Given the description of an element on the screen output the (x, y) to click on. 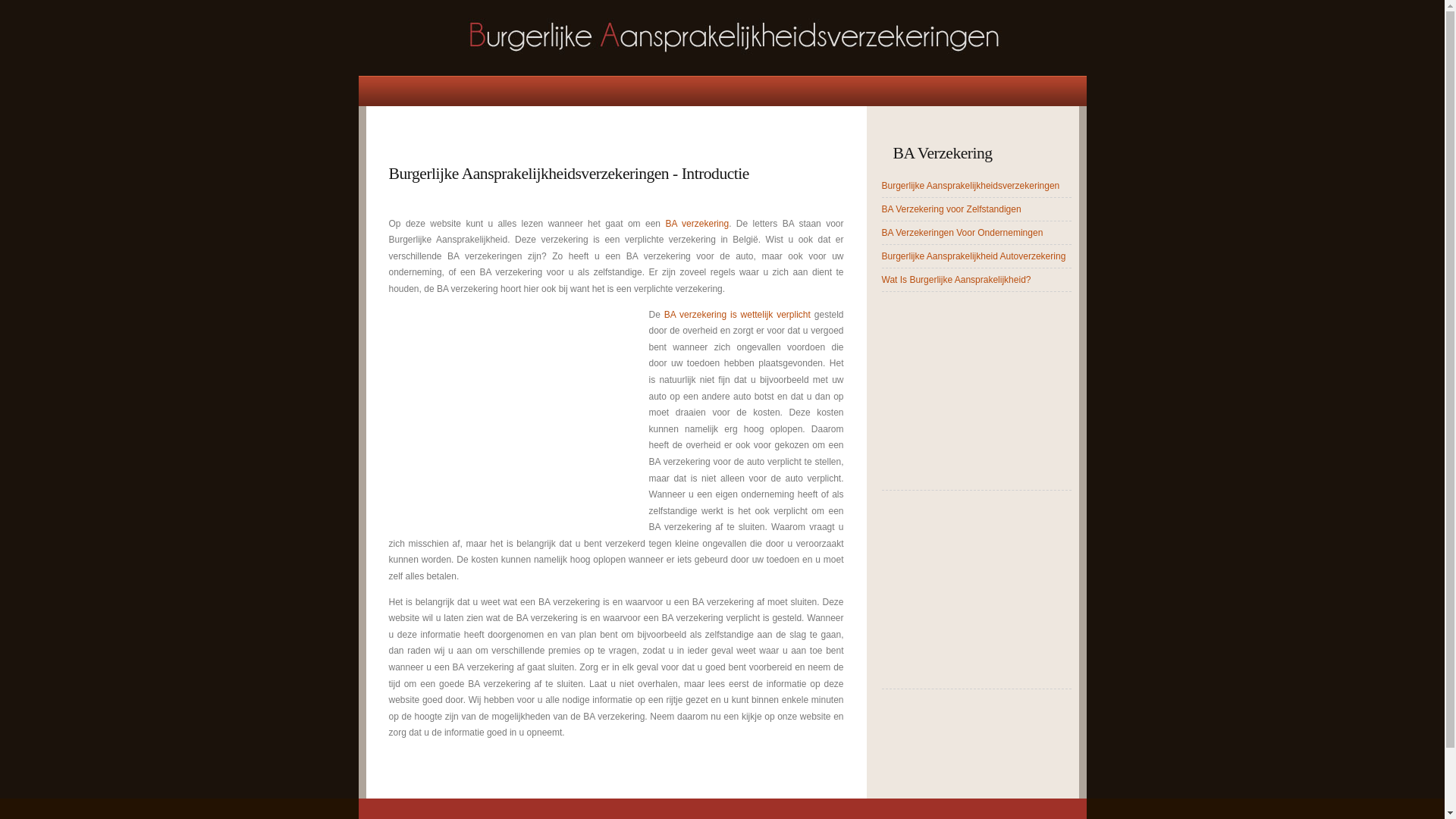
Wat Is Burgerlijke Aansprakelijkheid? Element type: text (955, 279)
Advertisement Element type: hover (975, 386)
BA verzekering is wettelijk verplicht Element type: text (737, 314)
Burgerlijke Aansprakelijkheid Autoverzekering Element type: text (973, 256)
BA Verzekering voor Zelfstandigen Element type: text (950, 208)
Advertisement Element type: hover (975, 585)
BA Verzekeringen Voor Ondernemingen Element type: text (961, 232)
Advertisement Element type: hover (515, 413)
Burgerlijke Aansprakelijkheidsverzekeringen Element type: text (970, 185)
BA verzekering Element type: text (696, 223)
Advertisement Element type: hover (550, 134)
